Given the description of an element on the screen output the (x, y) to click on. 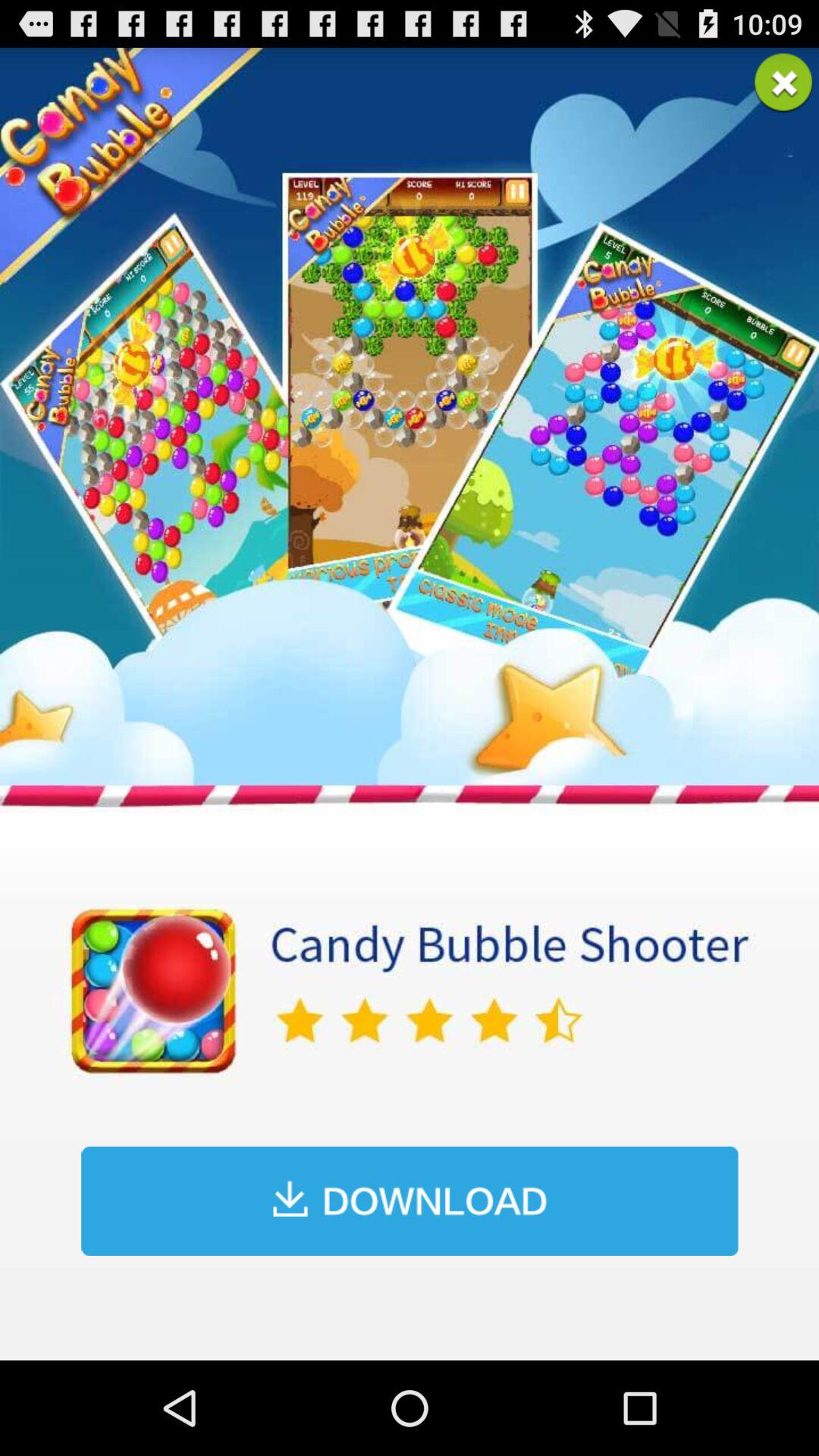
close advertisement (783, 83)
